Given the description of an element on the screen output the (x, y) to click on. 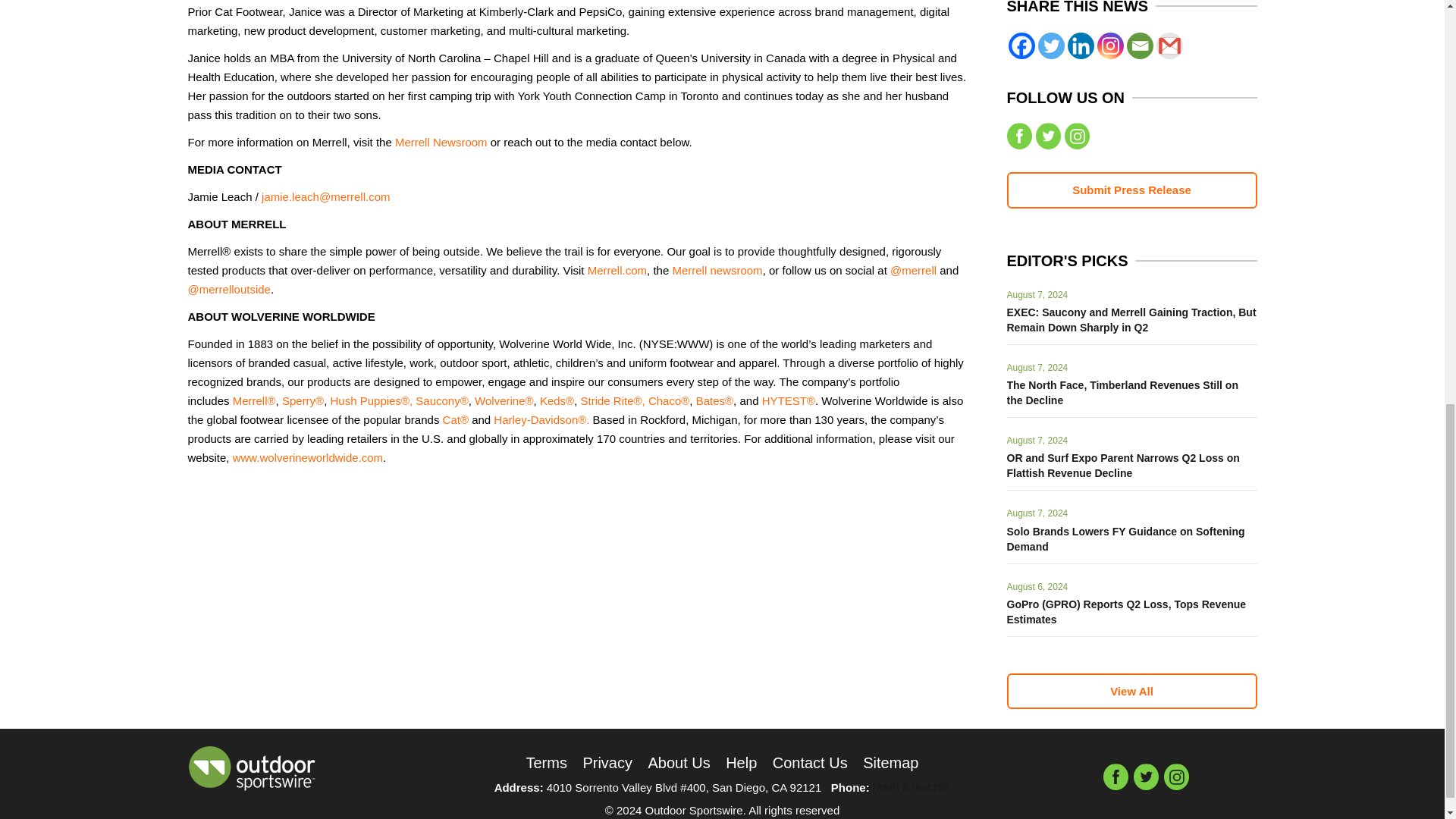
Facebook (1022, 45)
Linkedin (1080, 45)
Email (1139, 45)
Instagram (1109, 45)
Twitter (1050, 45)
Google Gmail (1169, 45)
